Given the description of an element on the screen output the (x, y) to click on. 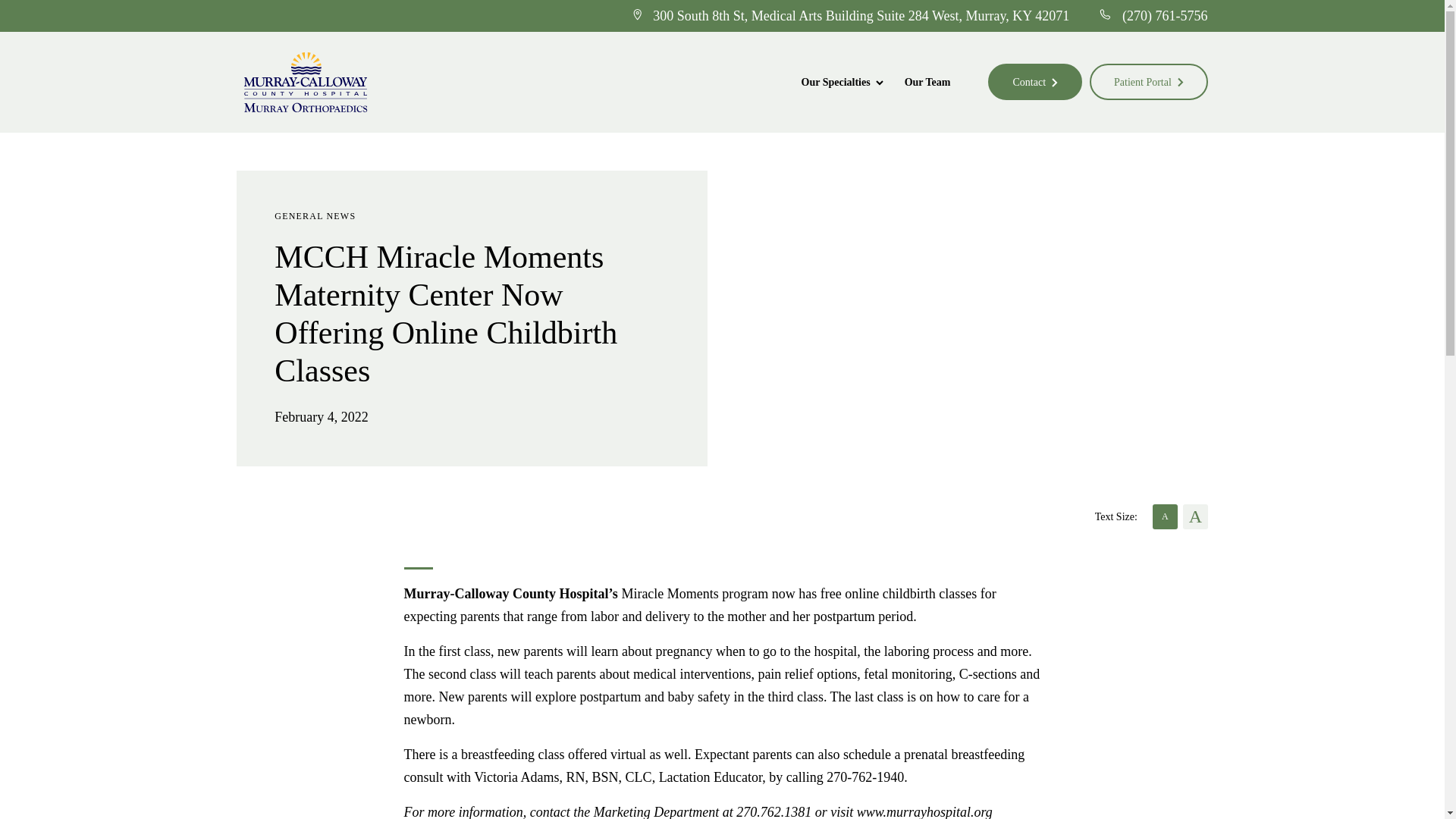
Our Team (927, 82)
Our Specialties (842, 82)
GENERAL NEWS (315, 215)
Contact (1034, 81)
Patient Portal (1148, 81)
